Given the description of an element on the screen output the (x, y) to click on. 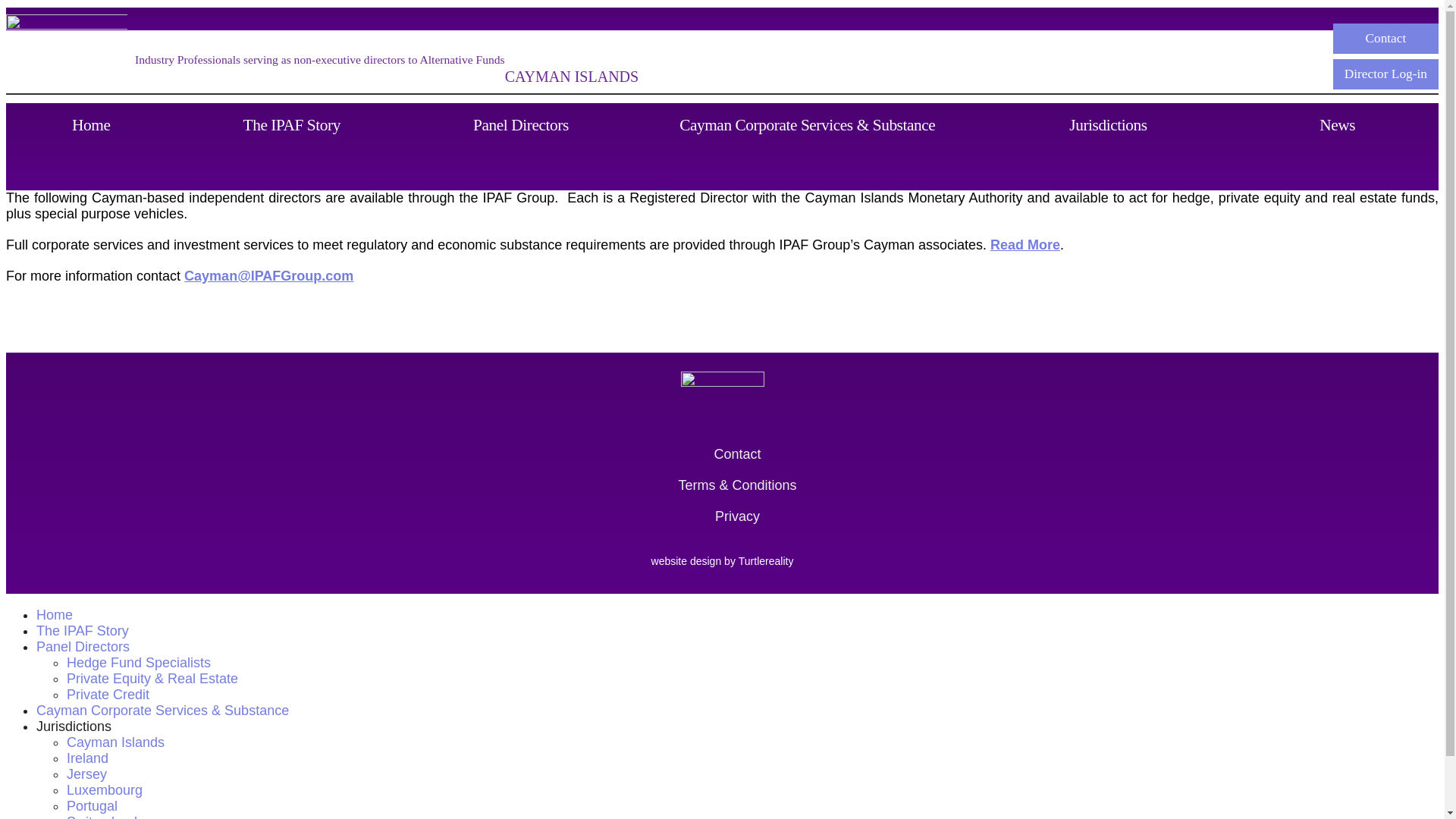
Privacy (736, 516)
Luxembourg (104, 789)
Panel Directors (82, 646)
Cayman Islands (115, 742)
Home (54, 614)
website design (686, 561)
Hedge Fund Specialists (138, 662)
Turtlereality (765, 561)
Panel Directors (521, 146)
Ireland (86, 758)
Contact (736, 454)
Jersey (86, 774)
The IPAF Story (82, 630)
Portugal (91, 806)
